Given the description of an element on the screen output the (x, y) to click on. 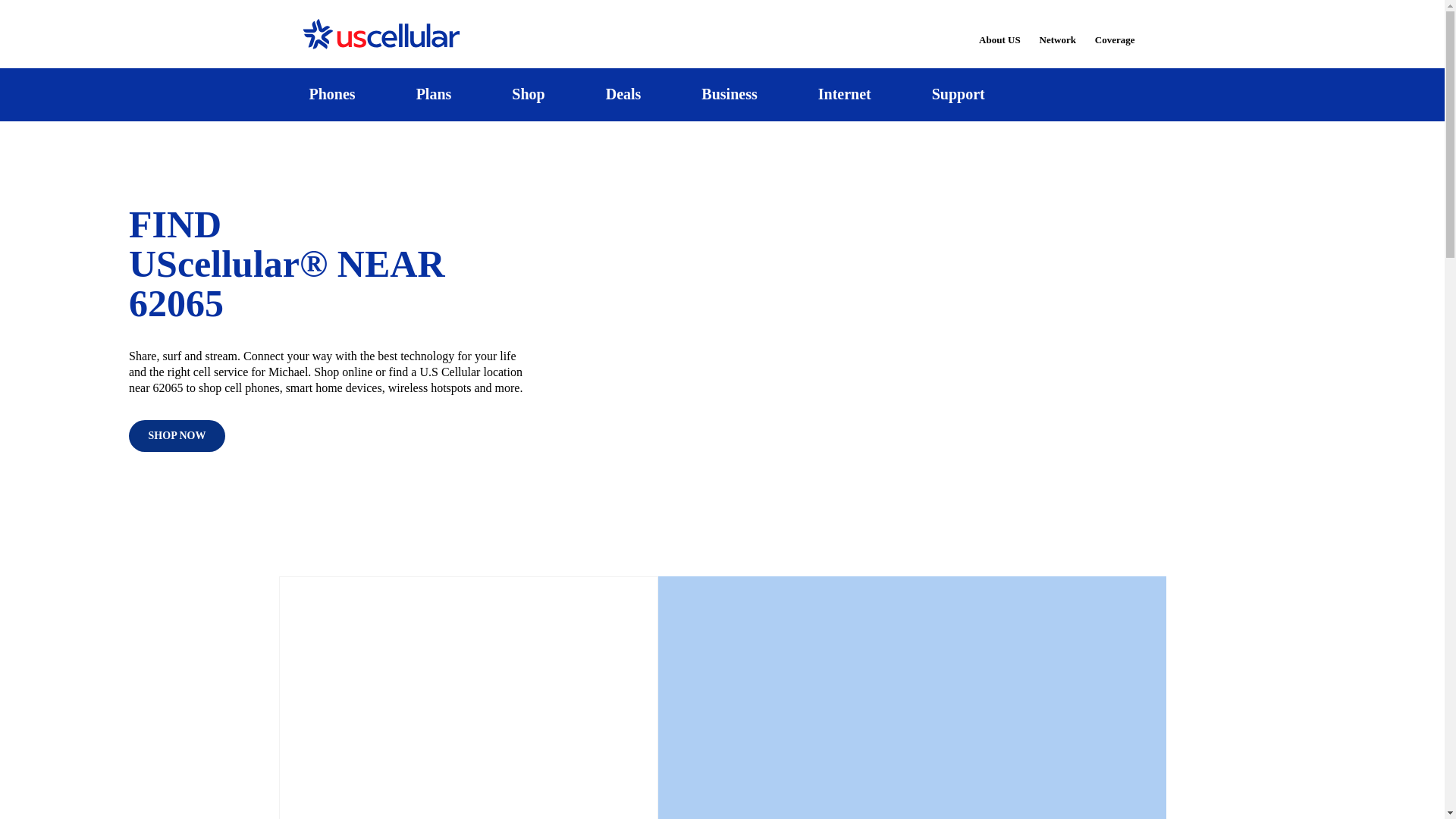
Support (957, 94)
Internet (844, 94)
Network (1057, 30)
Deals (623, 94)
Phones (332, 94)
SHOP NOW (177, 436)
Business (729, 94)
Shop (528, 94)
About US (999, 30)
Plans (433, 94)
Coverage (1115, 29)
